Given the description of an element on the screen output the (x, y) to click on. 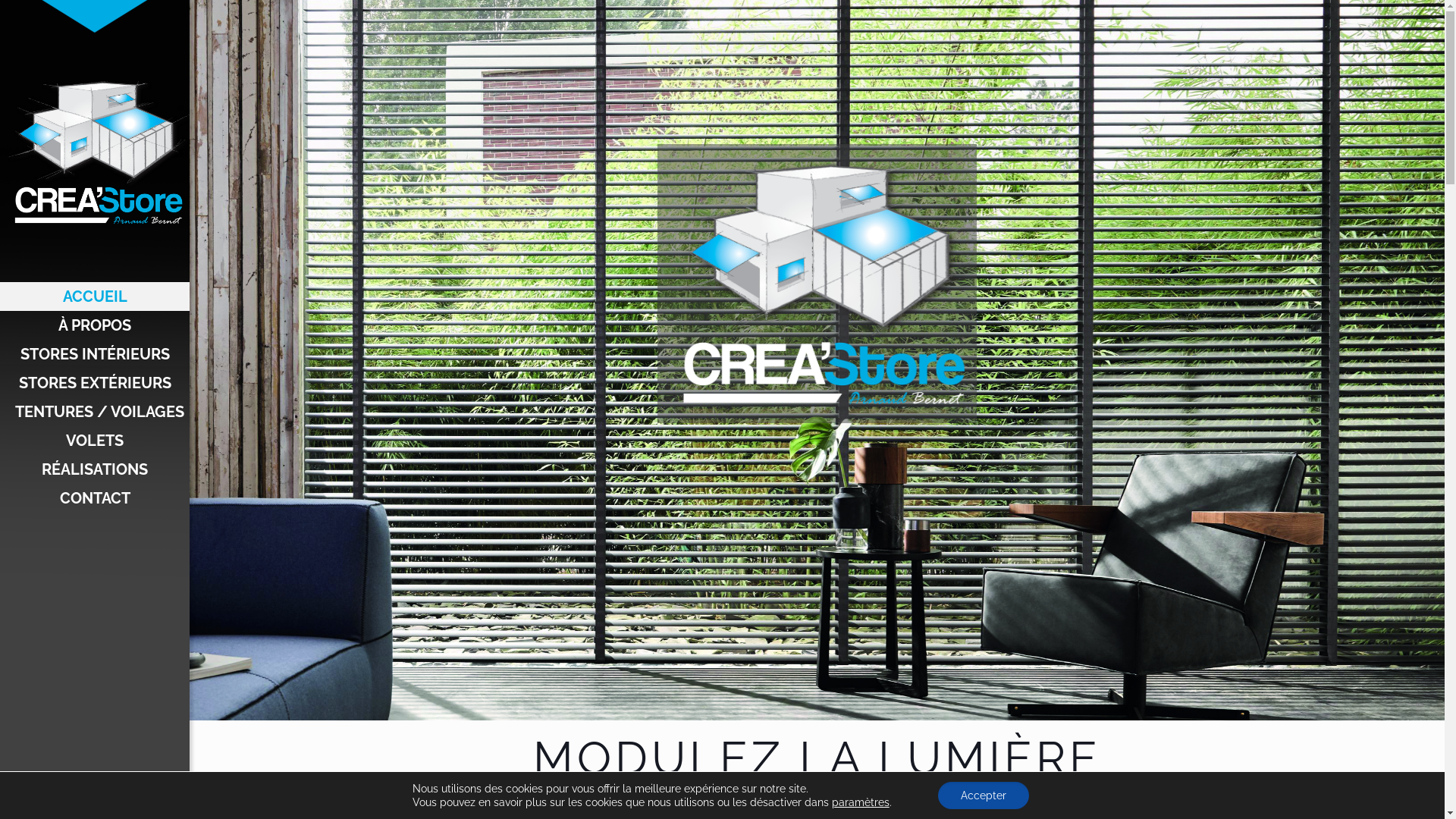
ACCUEIL Element type: text (94, 296)
Facebook Element type: hover (84, 798)
VOLETS Element type: text (94, 440)
TENTURES / VOILAGES Element type: text (94, 411)
CONTACT Element type: text (94, 497)
CREA'Store Element type: hover (94, 150)
Accepter Element type: text (983, 795)
